Given the description of an element on the screen output the (x, y) to click on. 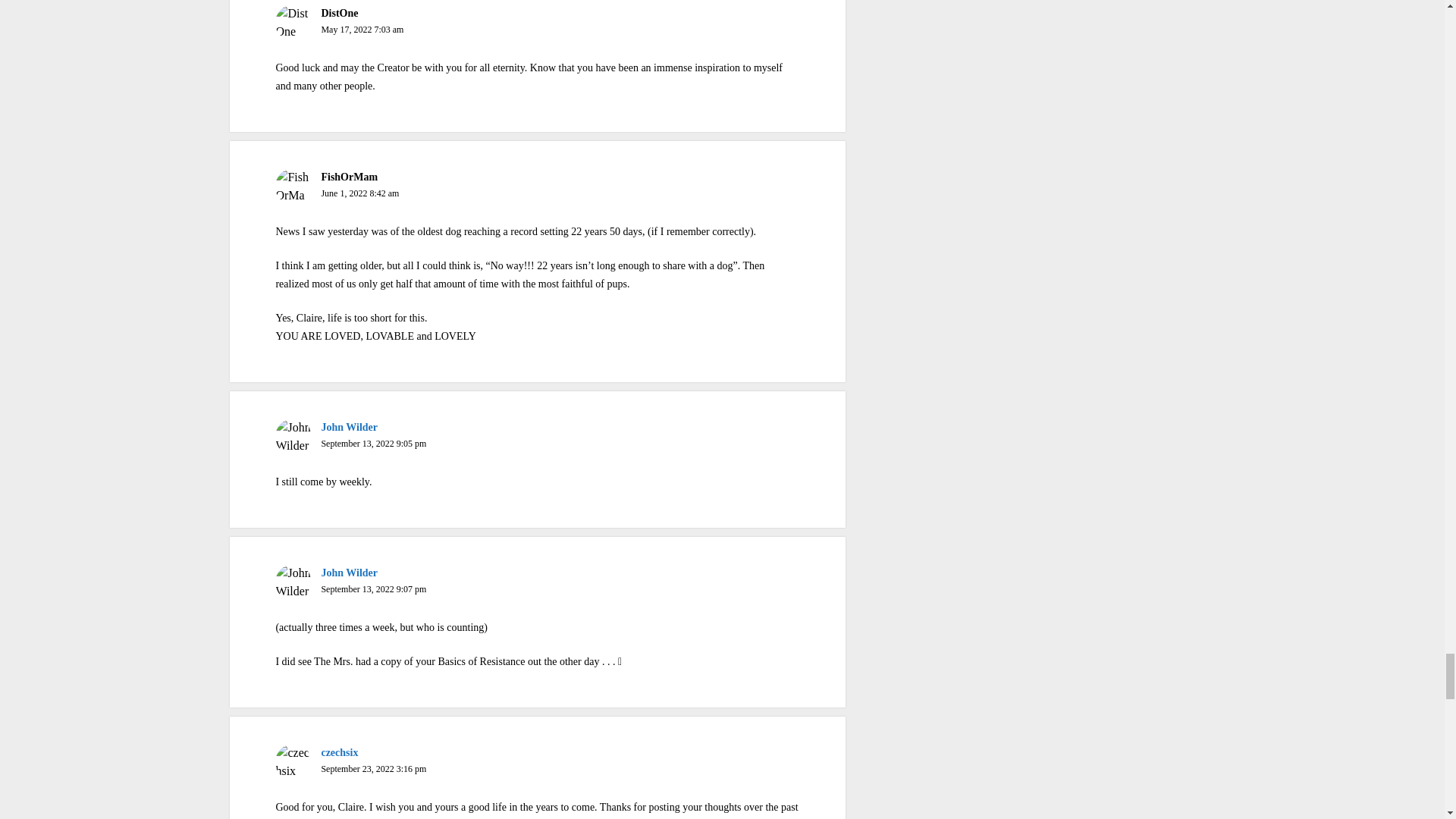
John Wilder (348, 427)
